Given the description of an element on the screen output the (x, y) to click on. 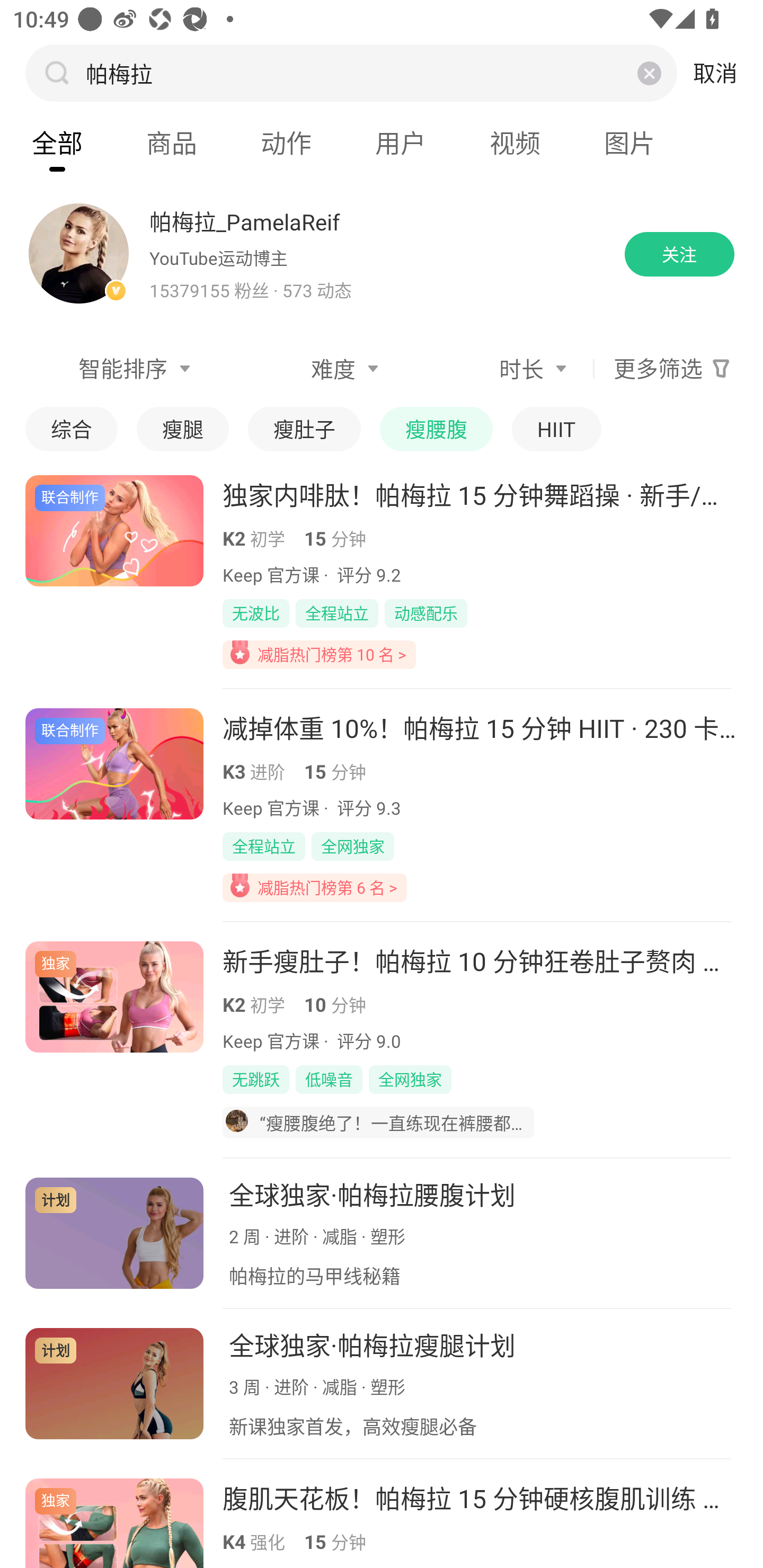
帕梅拉 EditSearch (349, 72)
取消 (714, 72)
全部 (57, 143)
商品 (171, 143)
动作 (285, 143)
用户 (400, 143)
视频 (514, 143)
图片 (629, 143)
帕梅拉_PamelaReif YouTube运动博主 关注 15379155 粉丝 · 573 动态 (381, 254)
关注 (679, 253)
智能排序 (111, 368)
综合 (71, 428)
瘦腿 (182, 428)
瘦肚子 (303, 428)
瘦腰腹 (435, 428)
HIIT (556, 428)
减脂热门榜第 10 名 > (318, 654)
减脂热门榜第 6 名 > (314, 887)
计划 全球独家·帕梅拉腰腹计划 2 周 · 进阶 · 减脂 · 塑形 帕梅拉的马甲线秘籍 (381, 1232)
计划 全球独家·帕梅拉瘦腿计划 3 周 · 进阶 · 减脂 · 塑形 新课独家首发，高效瘦腿必备 (381, 1383)
